Given the description of an element on the screen output the (x, y) to click on. 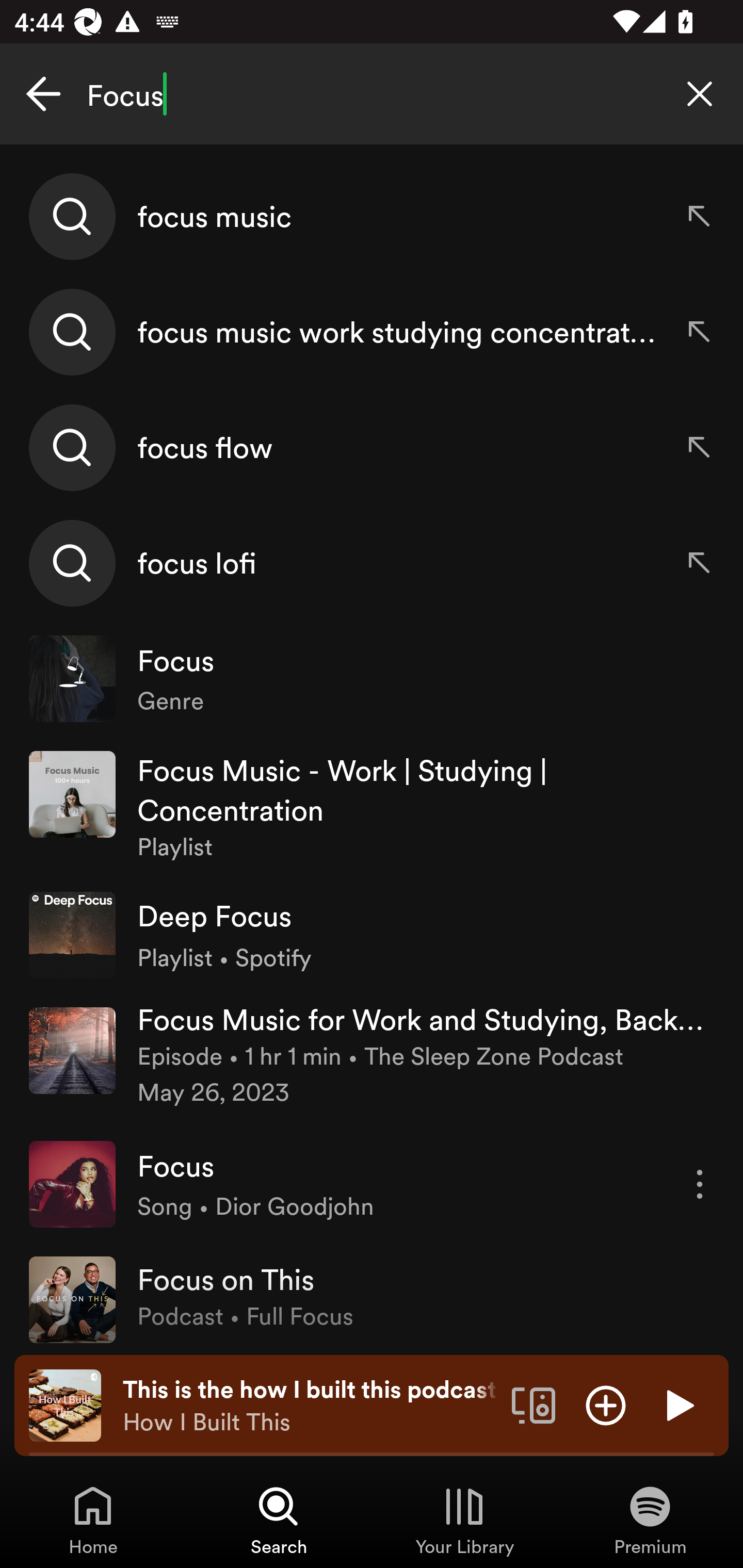
Focus (371, 93)
Cancel (43, 93)
Clear search query (699, 93)
focus music (371, 216)
focus music work studying concentration (371, 332)
focus flow (371, 447)
focus lofi (371, 562)
Focus Genre (371, 678)
Deep Focus Playlist • Spotify (371, 935)
More options for song Focus (699, 1184)
Focus on This Podcast • Full Focus (371, 1297)
The cover art of the currently playing track (64, 1404)
Connect to a device. Opens the devices menu (533, 1404)
Add item (605, 1404)
Play (677, 1404)
Home, Tab 1 of 4 Home Home (92, 1519)
Search, Tab 2 of 4 Search Search (278, 1519)
Your Library, Tab 3 of 4 Your Library Your Library (464, 1519)
Premium, Tab 4 of 4 Premium Premium (650, 1519)
